Given the description of an element on the screen output the (x, y) to click on. 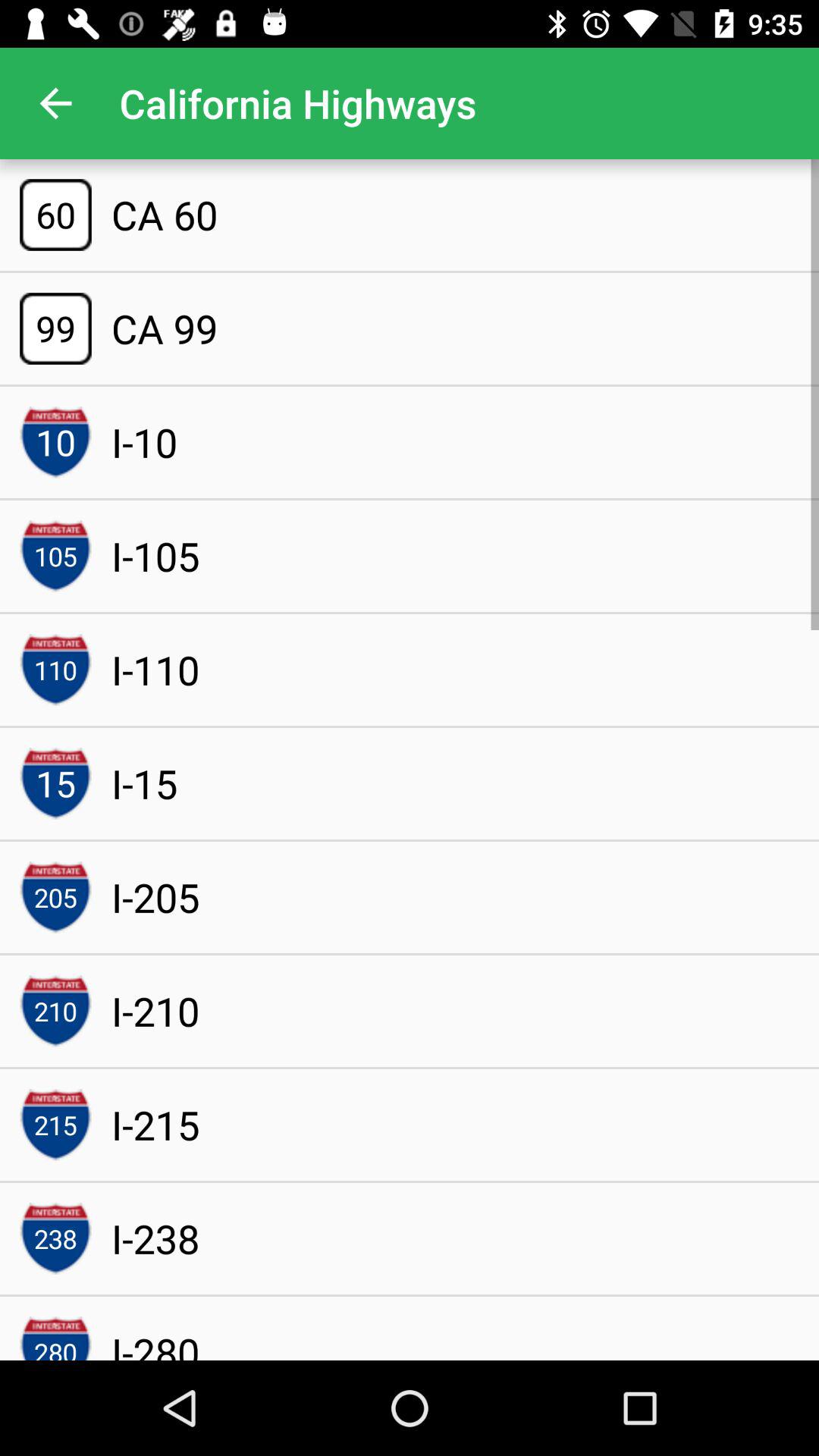
select icon above the i-110 icon (155, 555)
